Given the description of an element on the screen output the (x, y) to click on. 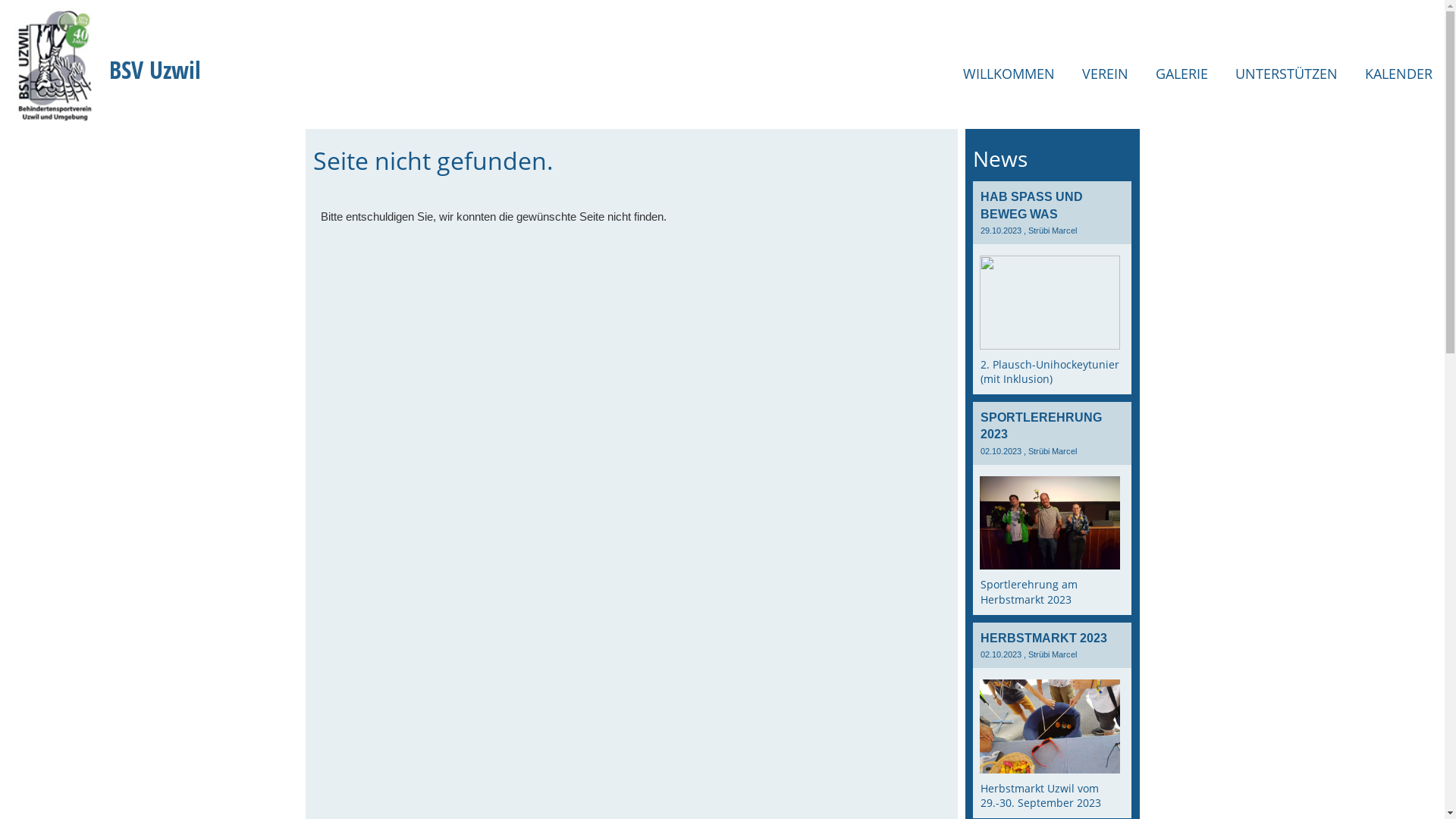
KALENDER Element type: text (1398, 73)
BSV Uzwil Element type: text (154, 70)
GALERIE Element type: text (1181, 73)
VEREIN Element type: text (1105, 73)
WILLKOMMEN Element type: text (1008, 73)
